Given the description of an element on the screen output the (x, y) to click on. 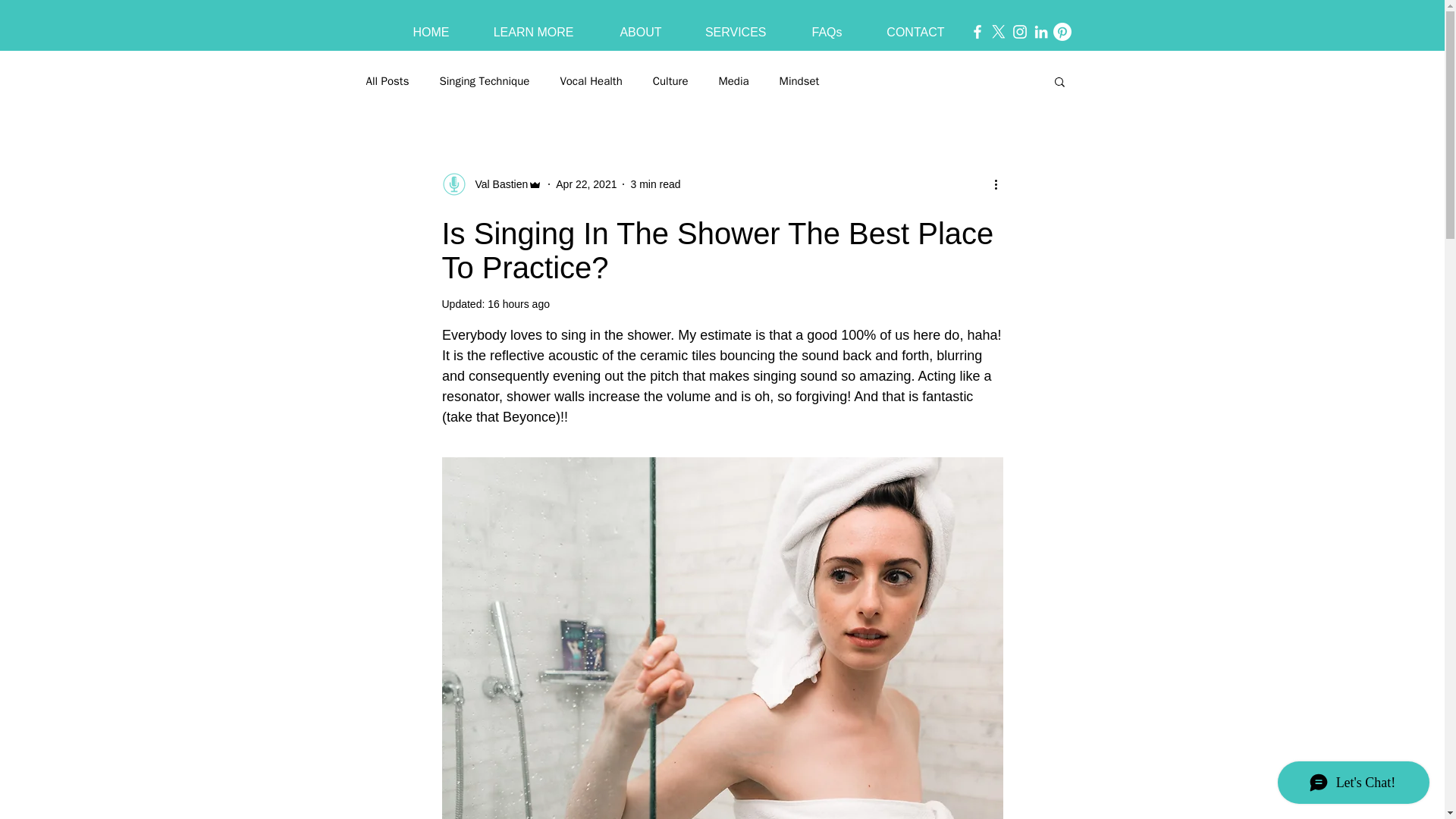
All Posts (387, 81)
HOME (418, 25)
Mindset (798, 81)
Apr 22, 2021 (585, 183)
3 min read (654, 183)
CONTACT (903, 25)
ABOUT (627, 25)
Culture (670, 81)
Media (732, 81)
Vocal Health (590, 81)
